Given the description of an element on the screen output the (x, y) to click on. 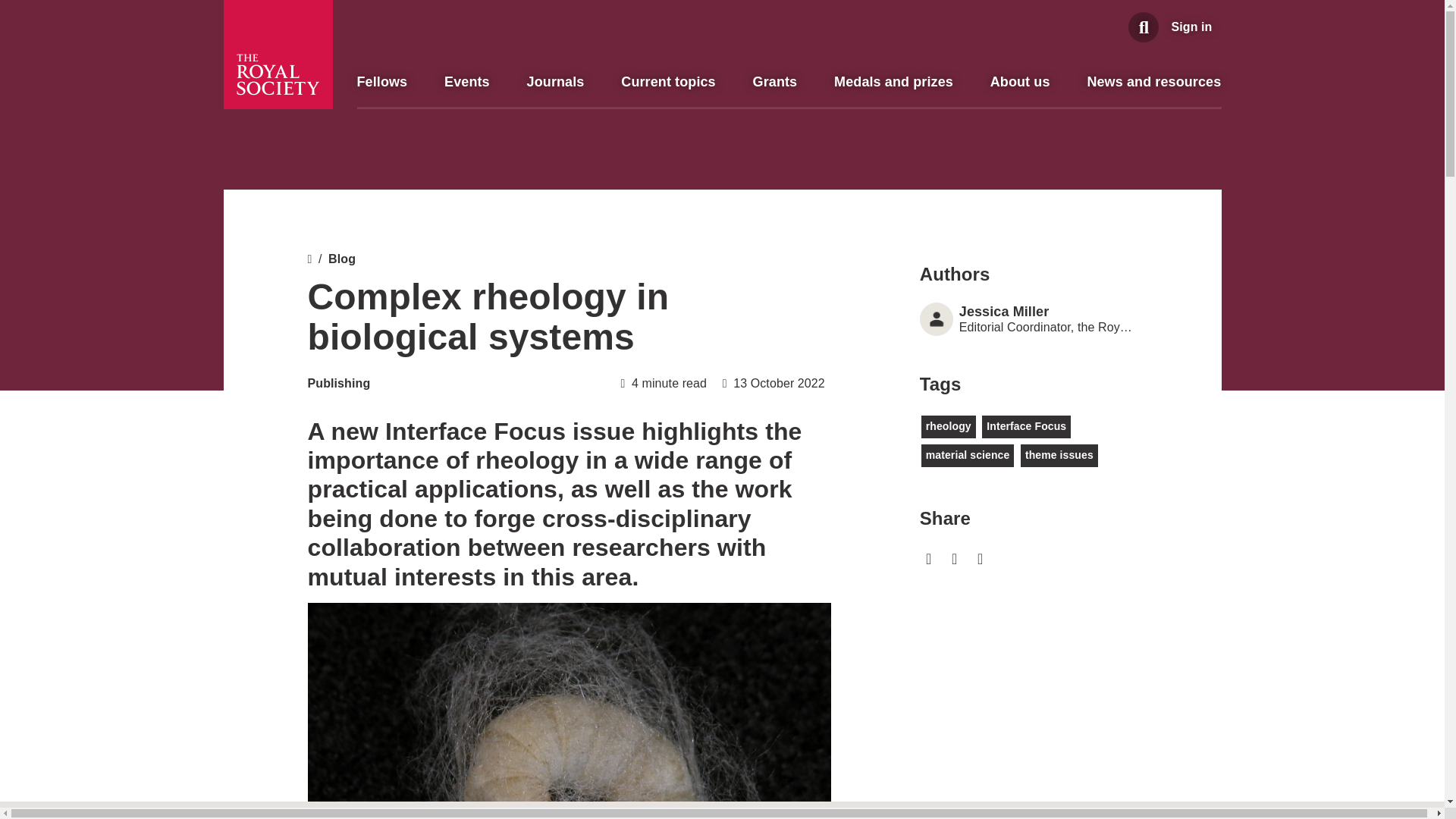
Fellows (381, 81)
Journals (556, 81)
Current topics (667, 81)
